Given the description of an element on the screen output the (x, y) to click on. 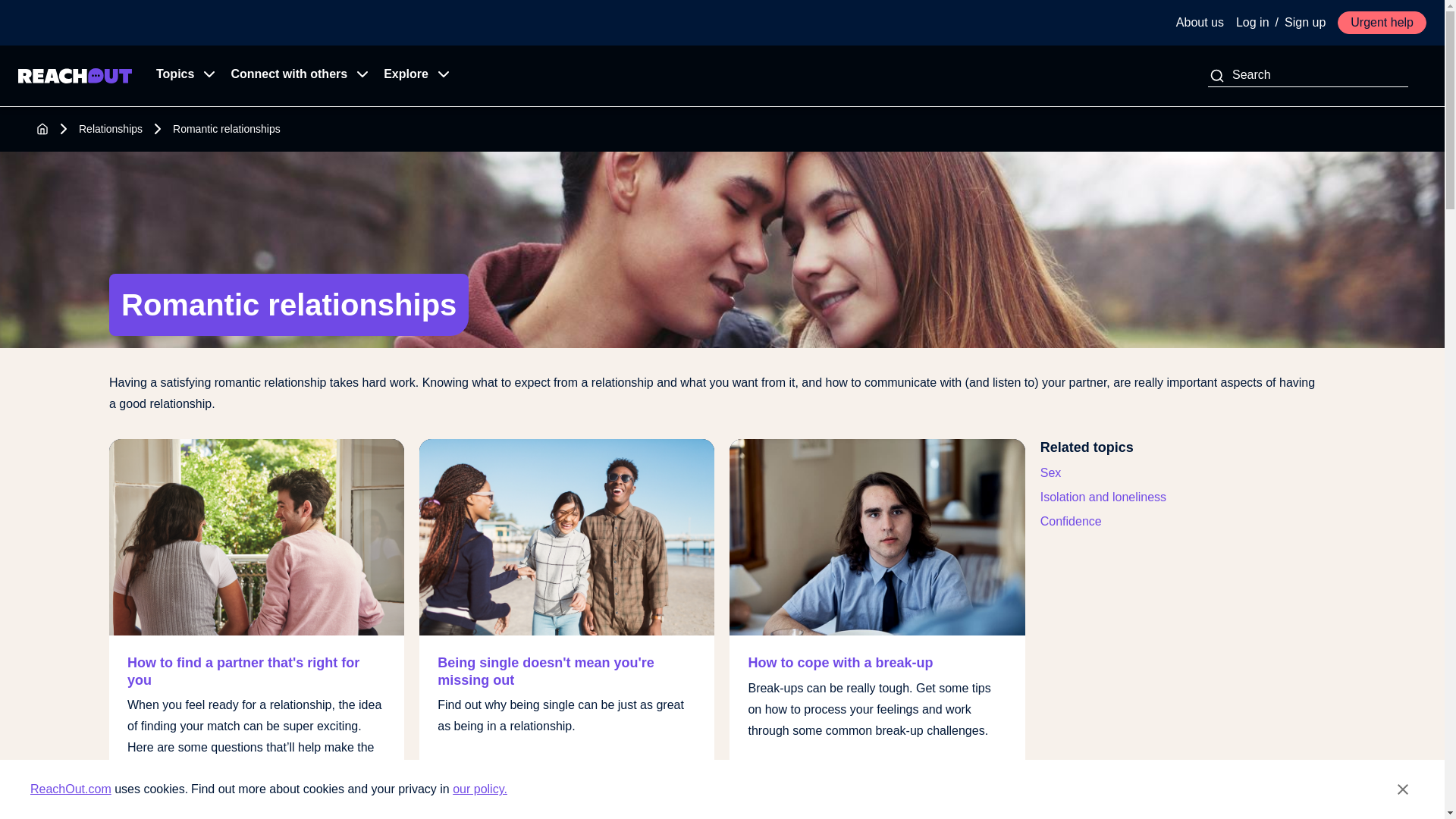
Explore (411, 75)
Sign up (1304, 22)
Relationships (110, 128)
Urgent help (1382, 22)
Topics (181, 75)
Log in (1252, 22)
Connect with others (294, 75)
About us (1200, 22)
